Given the description of an element on the screen output the (x, y) to click on. 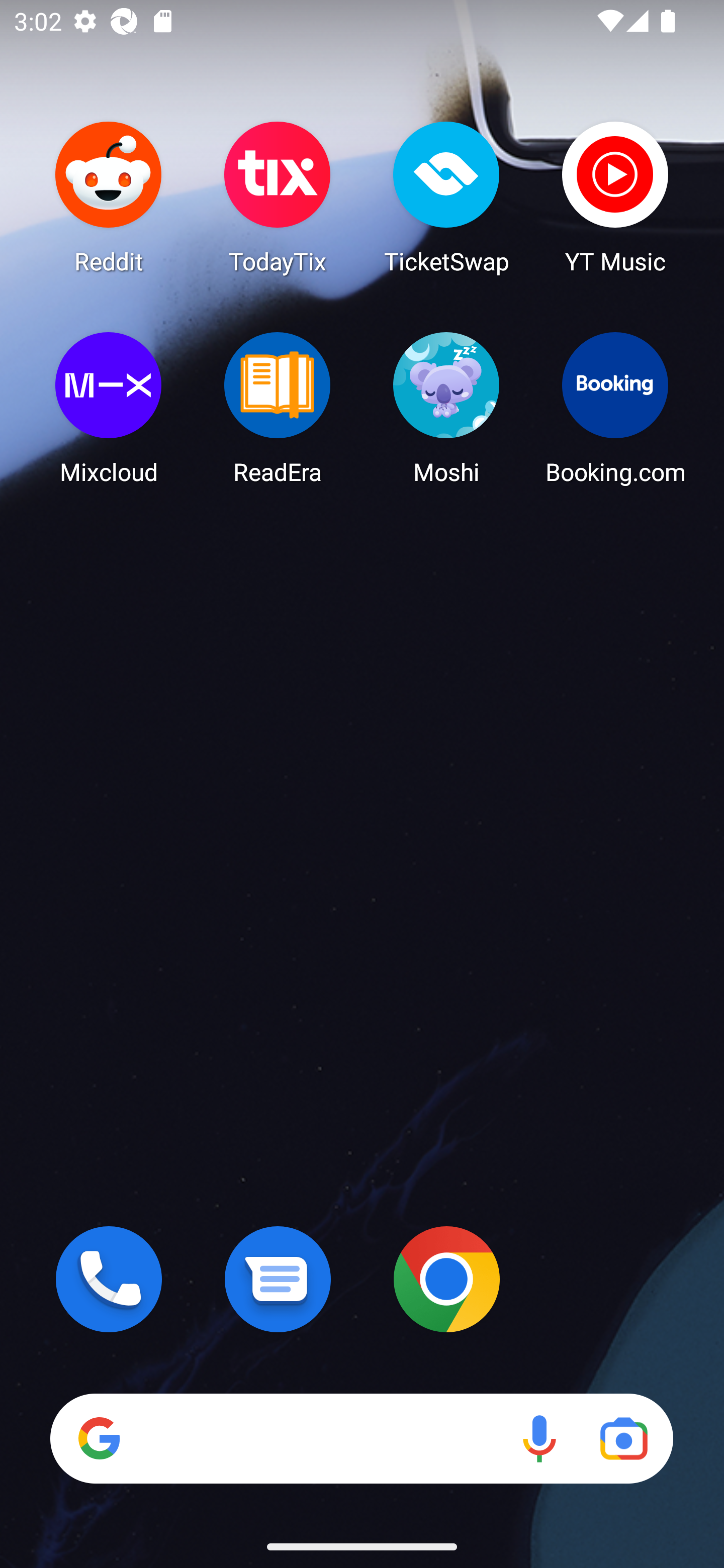
Reddit (108, 196)
TodayTix (277, 196)
TicketSwap (445, 196)
YT Music (615, 196)
Mixcloud (108, 407)
ReadEra (277, 407)
Moshi (445, 407)
Booking.com (615, 407)
Phone (108, 1279)
Messages (277, 1279)
Chrome (446, 1279)
Search Voice search Google Lens (361, 1438)
Voice search (539, 1438)
Google Lens (623, 1438)
